Given the description of an element on the screen output the (x, y) to click on. 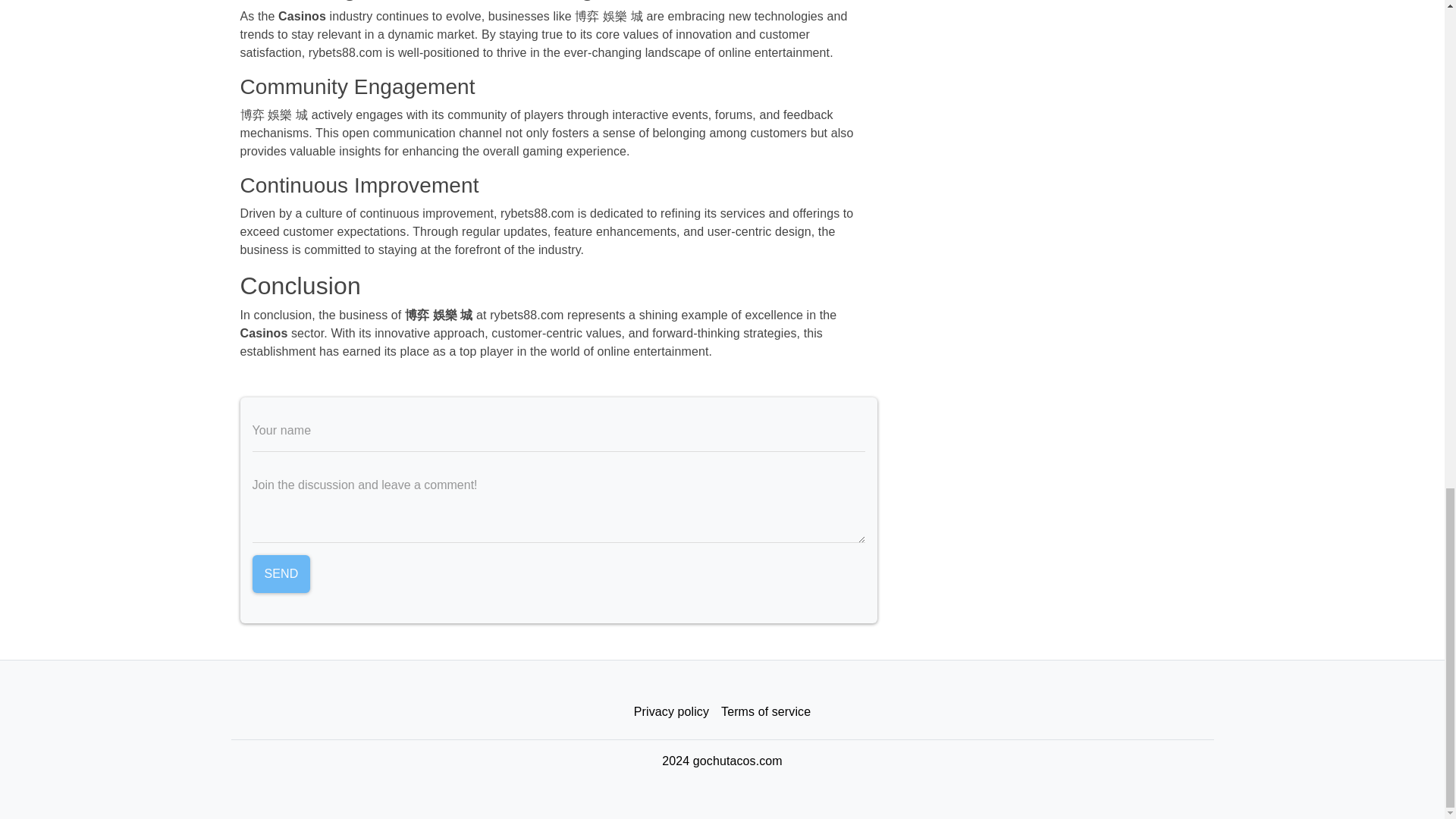
Terms of service (765, 711)
Send (280, 573)
Privacy policy (670, 711)
Send (280, 573)
